Given the description of an element on the screen output the (x, y) to click on. 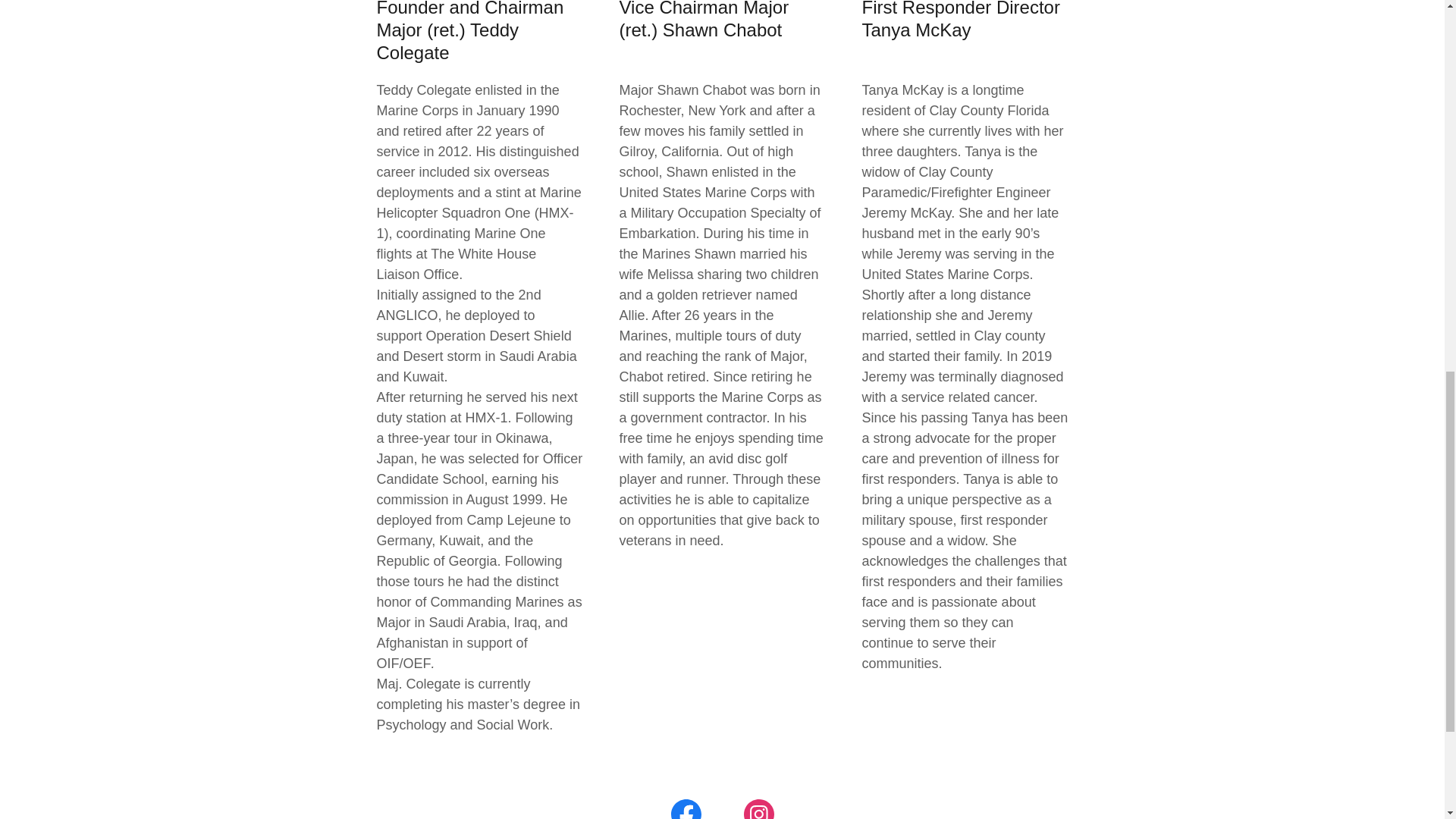
Accept (1274, 324)
